Given the description of an element on the screen output the (x, y) to click on. 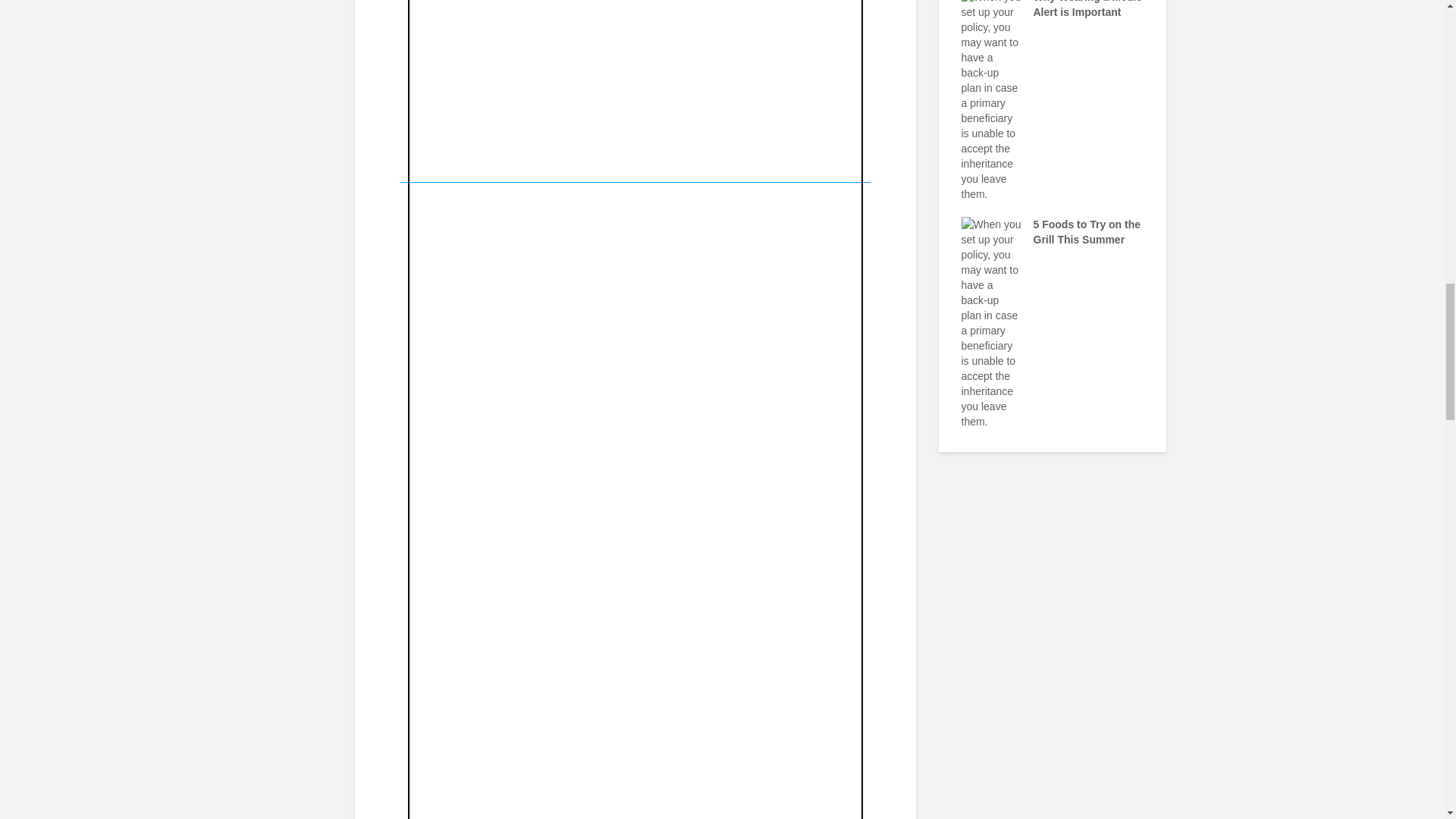
5 Foods to Try on the Grill This Summer (991, 322)
Why Wearing a Medic Alert is Important (991, 94)
